Given the description of an element on the screen output the (x, y) to click on. 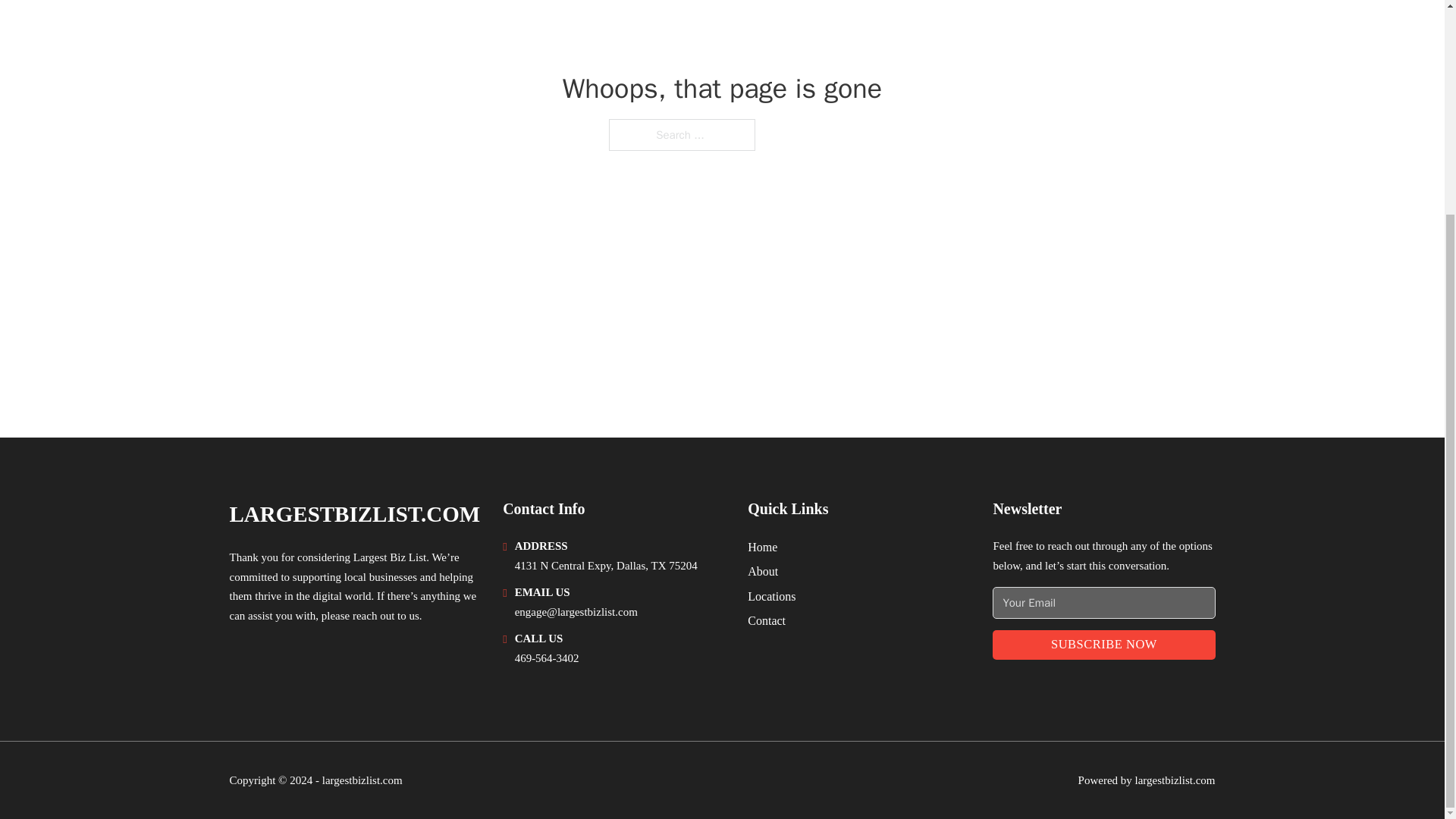
Contact (767, 620)
SUBSCRIBE NOW (1103, 644)
About (762, 571)
Home (762, 547)
Locations (771, 596)
LARGESTBIZLIST.COM (354, 514)
469-564-3402 (547, 657)
